Given the description of an element on the screen output the (x, y) to click on. 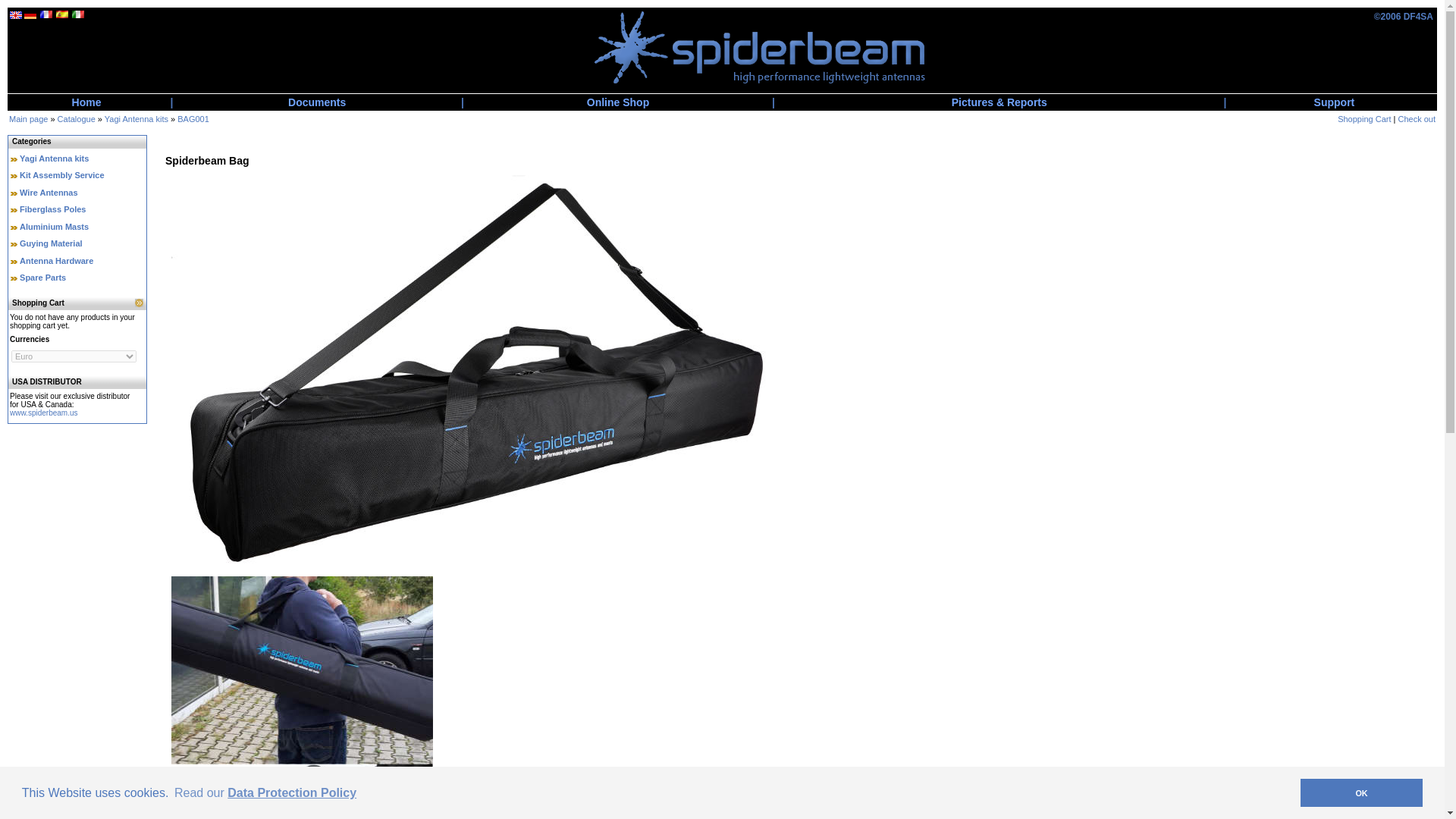
Guying Material (51, 243)
OK (1361, 792)
Fiberglass Poles (52, 208)
BAG001 (193, 118)
Spare Parts (42, 276)
English (15, 14)
French (45, 13)
Online Shop (617, 102)
Home (86, 102)
Italiano (77, 13)
Main page (28, 118)
www.spiderbeam.us (43, 411)
Catalogue (77, 118)
Documents (317, 102)
Shopping Cart (1364, 118)
